Given the description of an element on the screen output the (x, y) to click on. 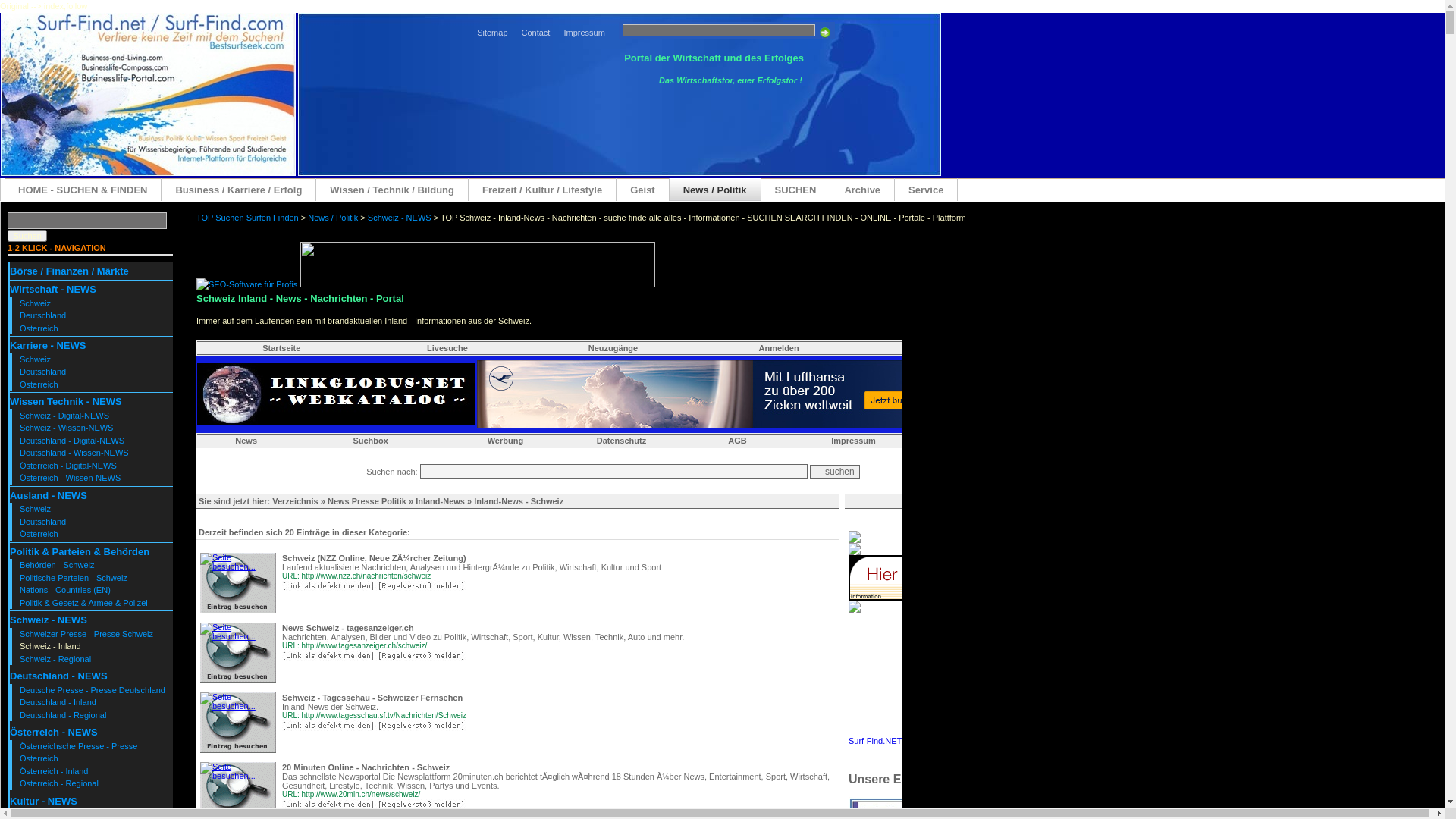
TOP Suchen Surfen Finden Element type: text (247, 216)
Schweiz Element type: text (34, 359)
Deutschland - Wissen-NEWS Element type: text (73, 452)
Wissen Technik - NEWS Element type: text (65, 401)
Archive Element type: text (862, 189)
Deutschland Element type: text (42, 521)
Business / Karriere / Erfolg Element type: text (238, 189)
Politik & Gesetz & Armee & Polizei Element type: text (83, 602)
Wissen / Technik / Bildung Element type: text (392, 189)
Geist Element type: text (642, 189)
SUCHEN Element type: text (796, 189)
Schweiz - NEWS Element type: text (48, 619)
Kultur - NEWS Element type: text (43, 800)
Wirtschaft - NEWS Element type: text (52, 288)
Ausland - NEWS Element type: text (48, 495)
Schweiz - Digital-NEWS Element type: text (64, 415)
Deutschland - Regional Element type: text (62, 714)
Deutsche Presse - Presse Deutschland Element type: text (92, 689)
Deutschland - NEWS Element type: text (58, 675)
News / Politik Element type: text (715, 189)
Impressum Element type: text (583, 31)
Deutschland Element type: text (42, 371)
HOME - SUCHEN & FINDEN Element type: text (82, 189)
Deutschland - Inland Element type: text (57, 701)
Suchen Element type: text (27, 235)
Schweizer Presse - Presse Schweiz Element type: text (86, 633)
Karriere - NEWS Element type: text (47, 345)
Service Element type: text (925, 189)
Politische Parteien - Schweiz Element type: text (73, 577)
Contact Element type: text (535, 31)
Schweiz Element type: text (34, 302)
Deutschland - Digital-NEWS Element type: text (71, 440)
Schweiz - NEWS Element type: text (399, 216)
Sitemap Element type: text (491, 31)
Schweiz - Regional Element type: text (55, 658)
Schweiz Element type: text (34, 508)
Surf-Find Element type: hover (147, 172)
News / Politik Element type: text (332, 216)
Nations - Countries (EN) Element type: text (64, 589)
Schweiz - Wissen-NEWS Element type: text (65, 427)
Freizeit / Kultur / Lifestyle Element type: text (542, 189)
Deutschland Element type: text (42, 315)
